Given the description of an element on the screen output the (x, y) to click on. 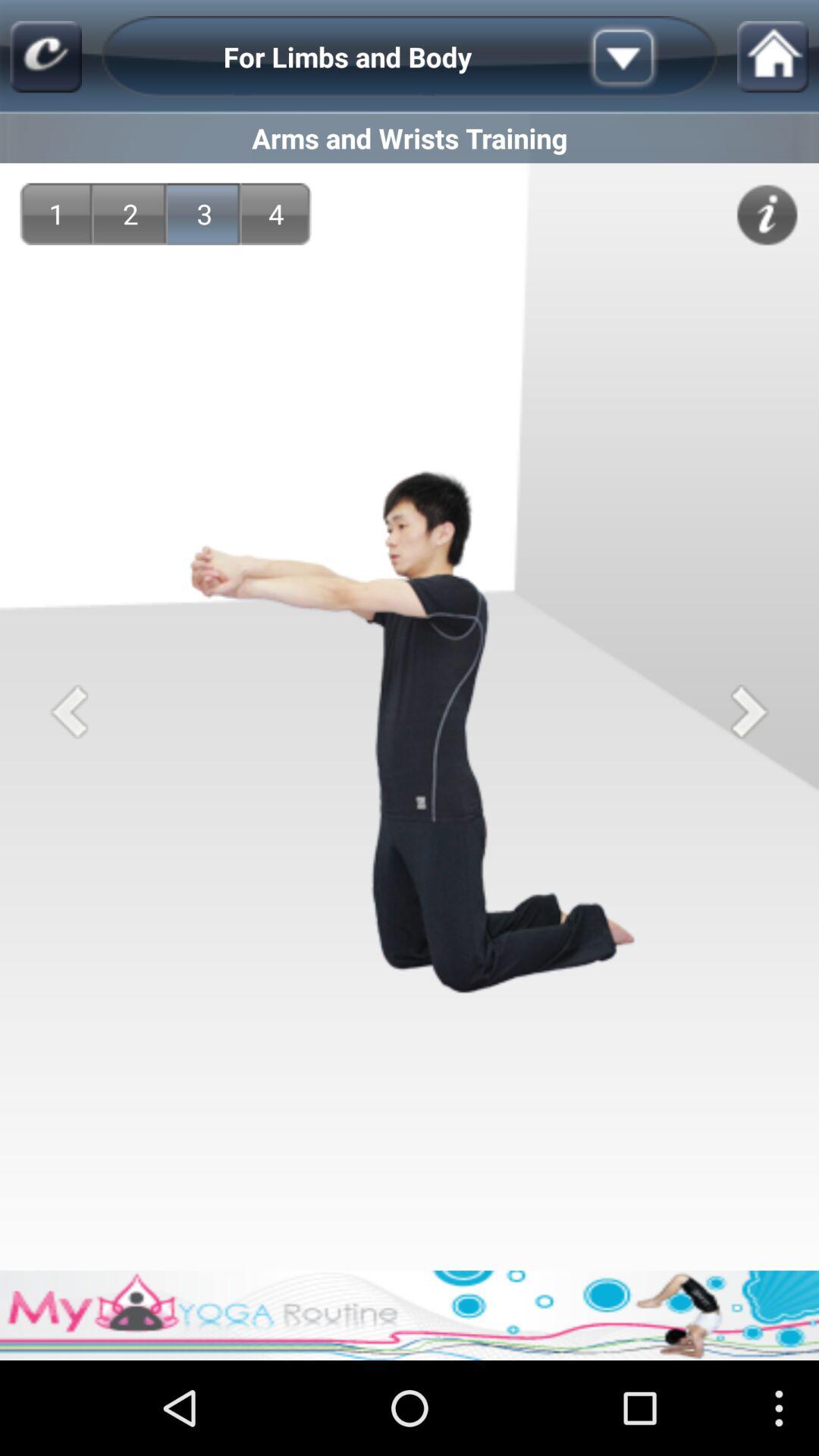
jump to the 4 item (276, 214)
